Given the description of an element on the screen output the (x, y) to click on. 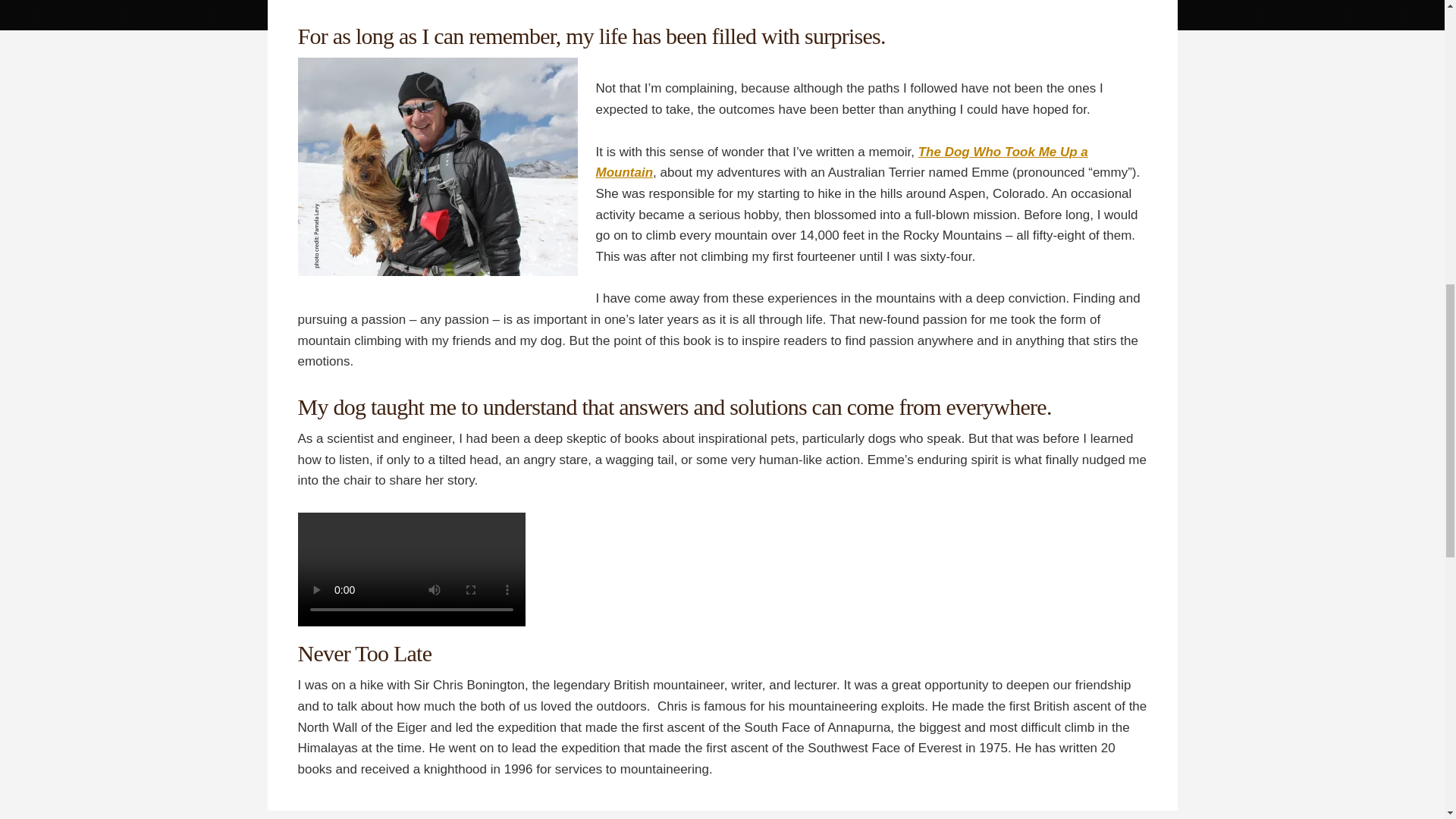
The Dog Who Took Me Up a Mountain (841, 162)
